Given the description of an element on the screen output the (x, y) to click on. 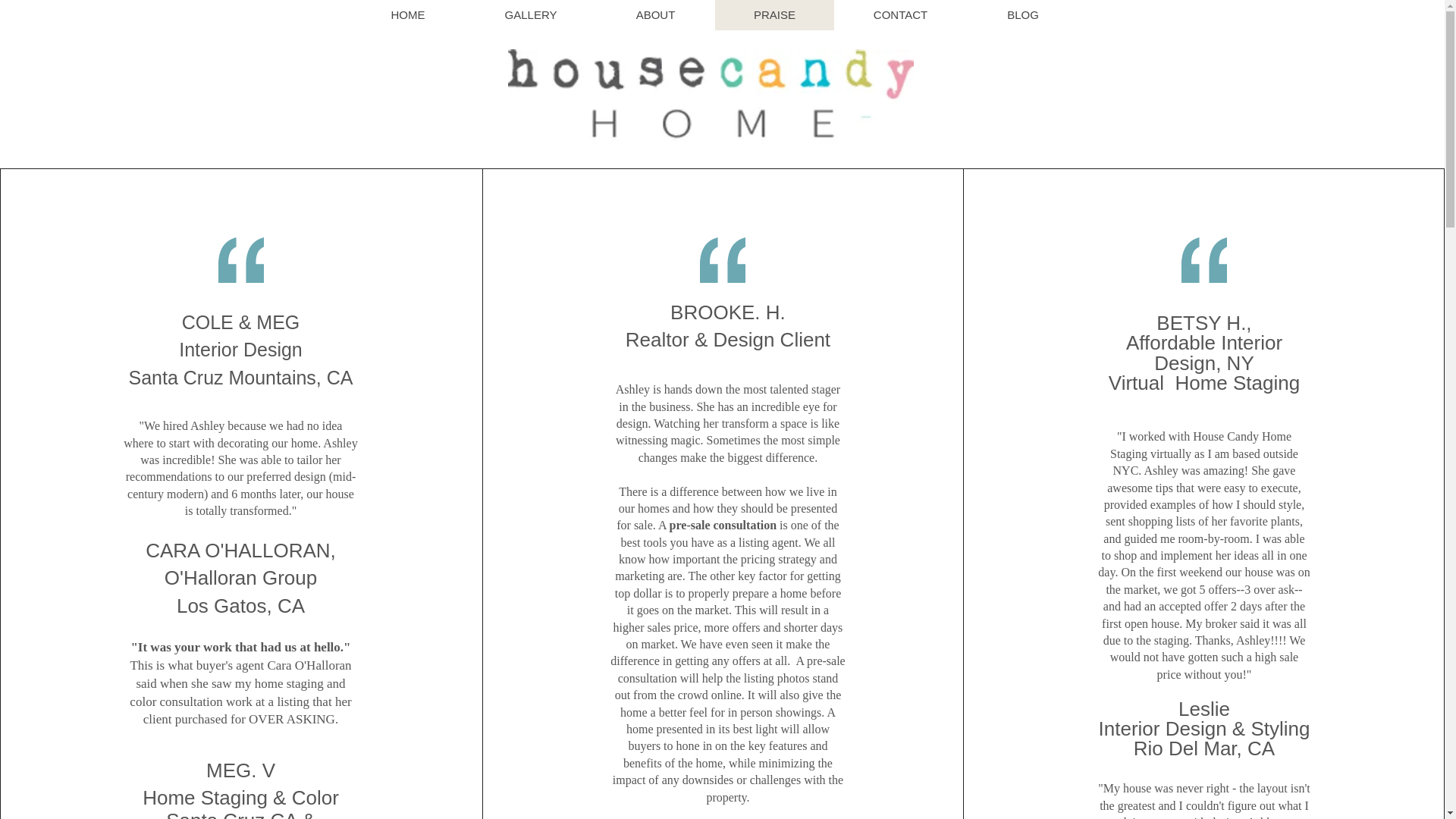
GALLERY (530, 15)
PRAISE (773, 15)
BLOG (1022, 15)
CONTACT (900, 15)
HOME (407, 15)
ABOUT (654, 15)
